Given the description of an element on the screen output the (x, y) to click on. 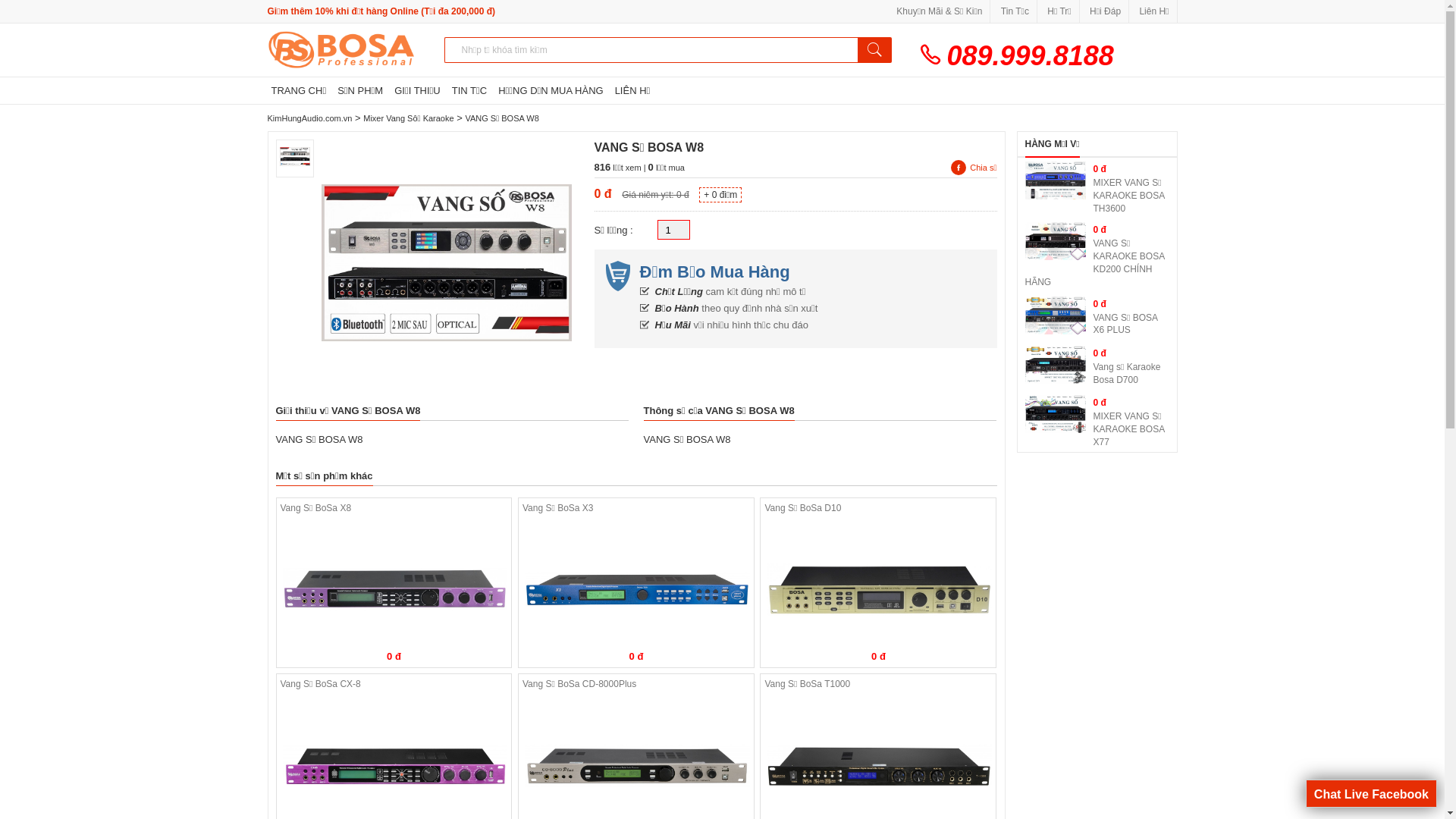
KimHungAudio.com.vn Element type: text (308, 117)
089.999.8188 Element type: text (721, 56)
